Given the description of an element on the screen output the (x, y) to click on. 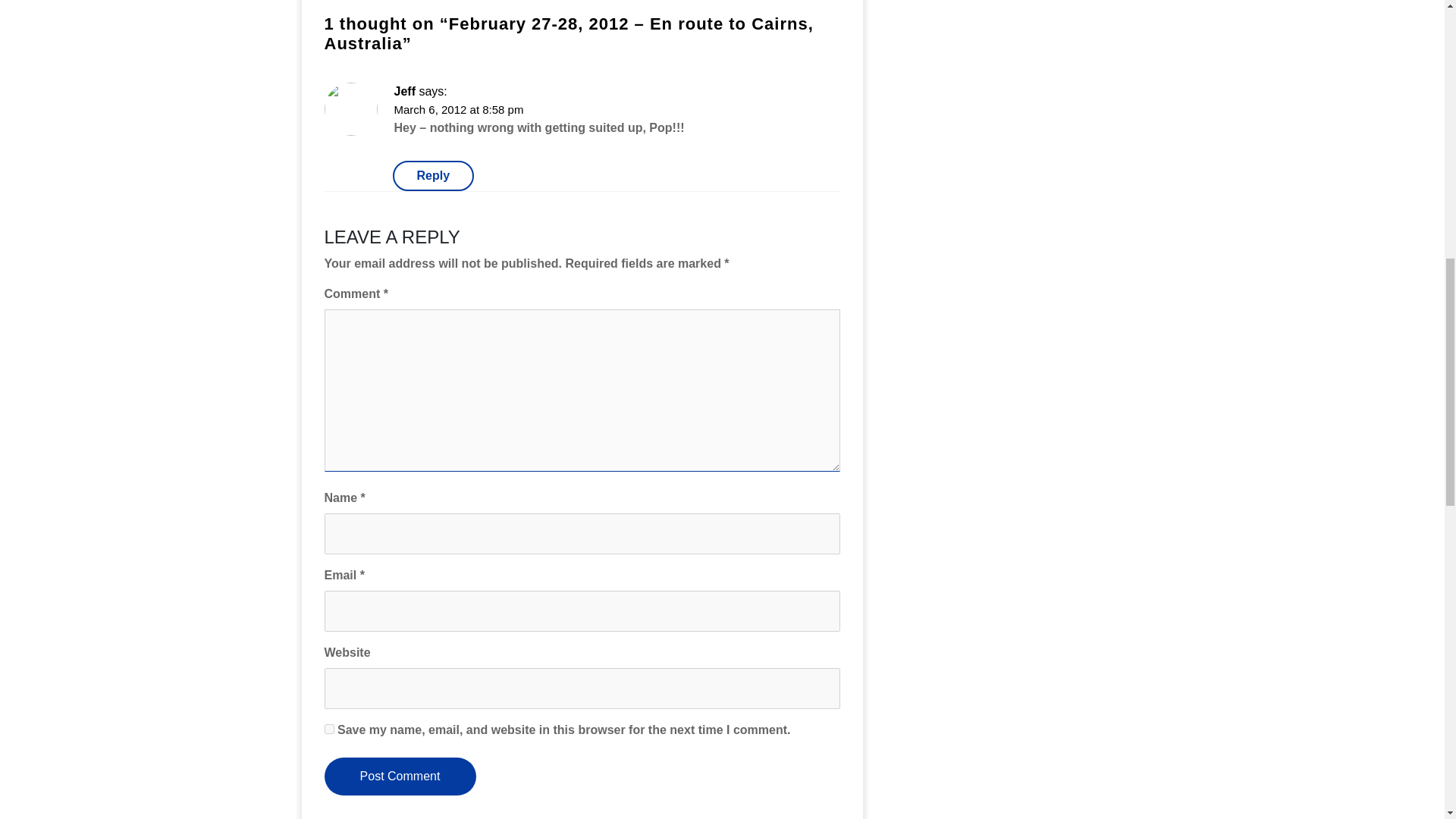
yes (329, 728)
Post Comment (400, 776)
Reply (433, 175)
March 6, 2012 at 8:58 pm (459, 109)
Post Comment (400, 776)
